Given the description of an element on the screen output the (x, y) to click on. 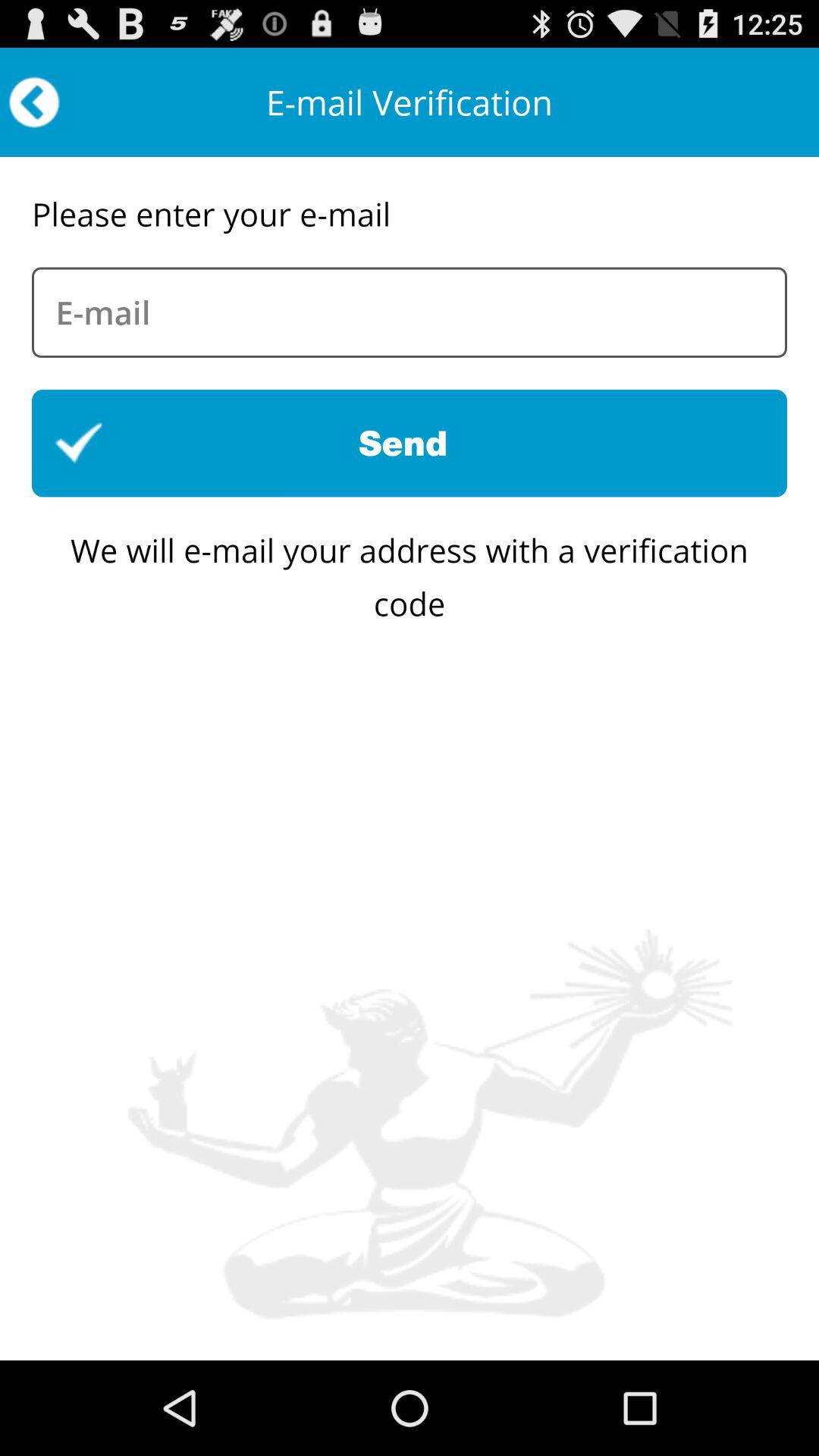
enter box (409, 312)
